Given the description of an element on the screen output the (x, y) to click on. 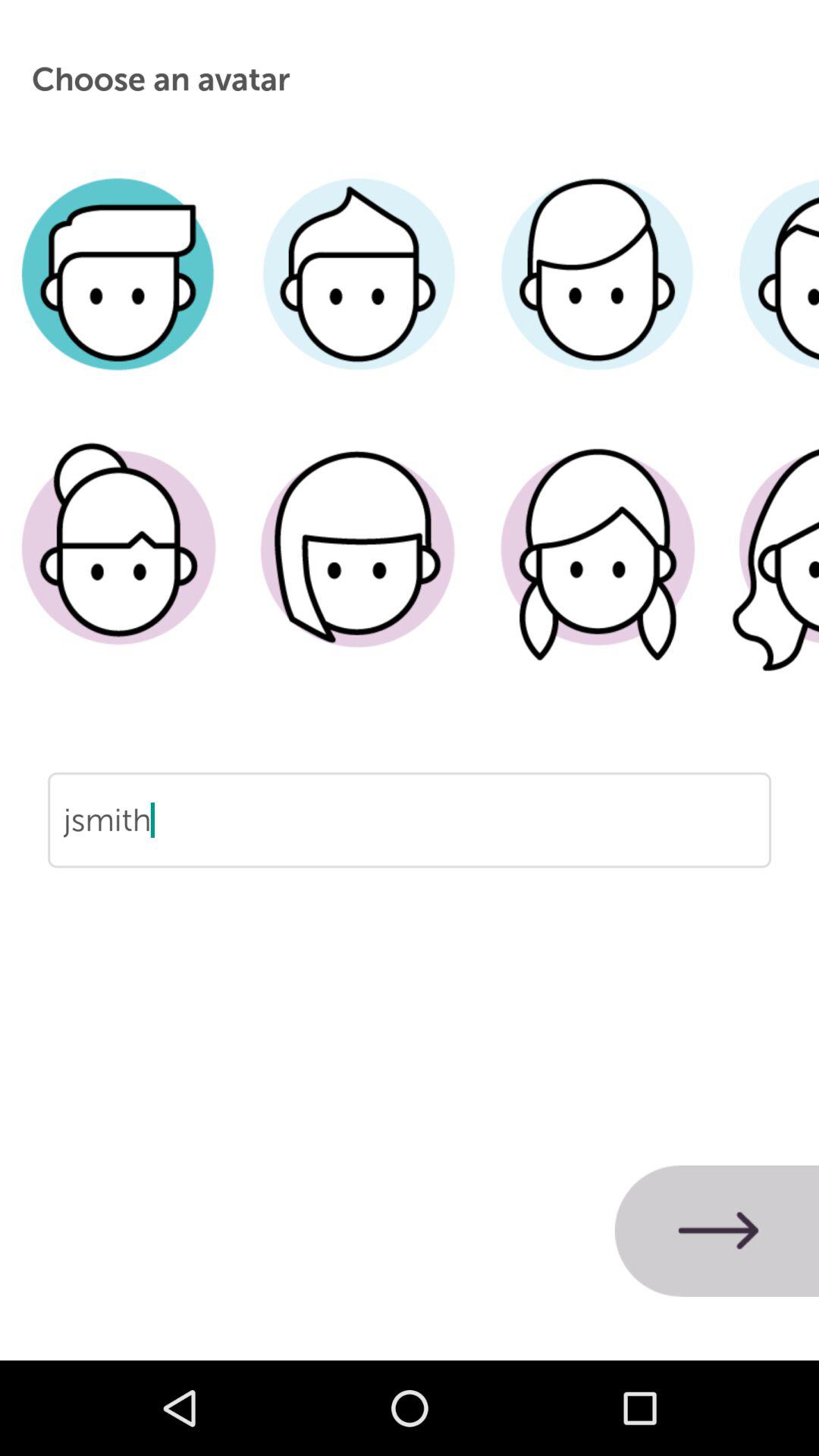
next (716, 1230)
